Given the description of an element on the screen output the (x, y) to click on. 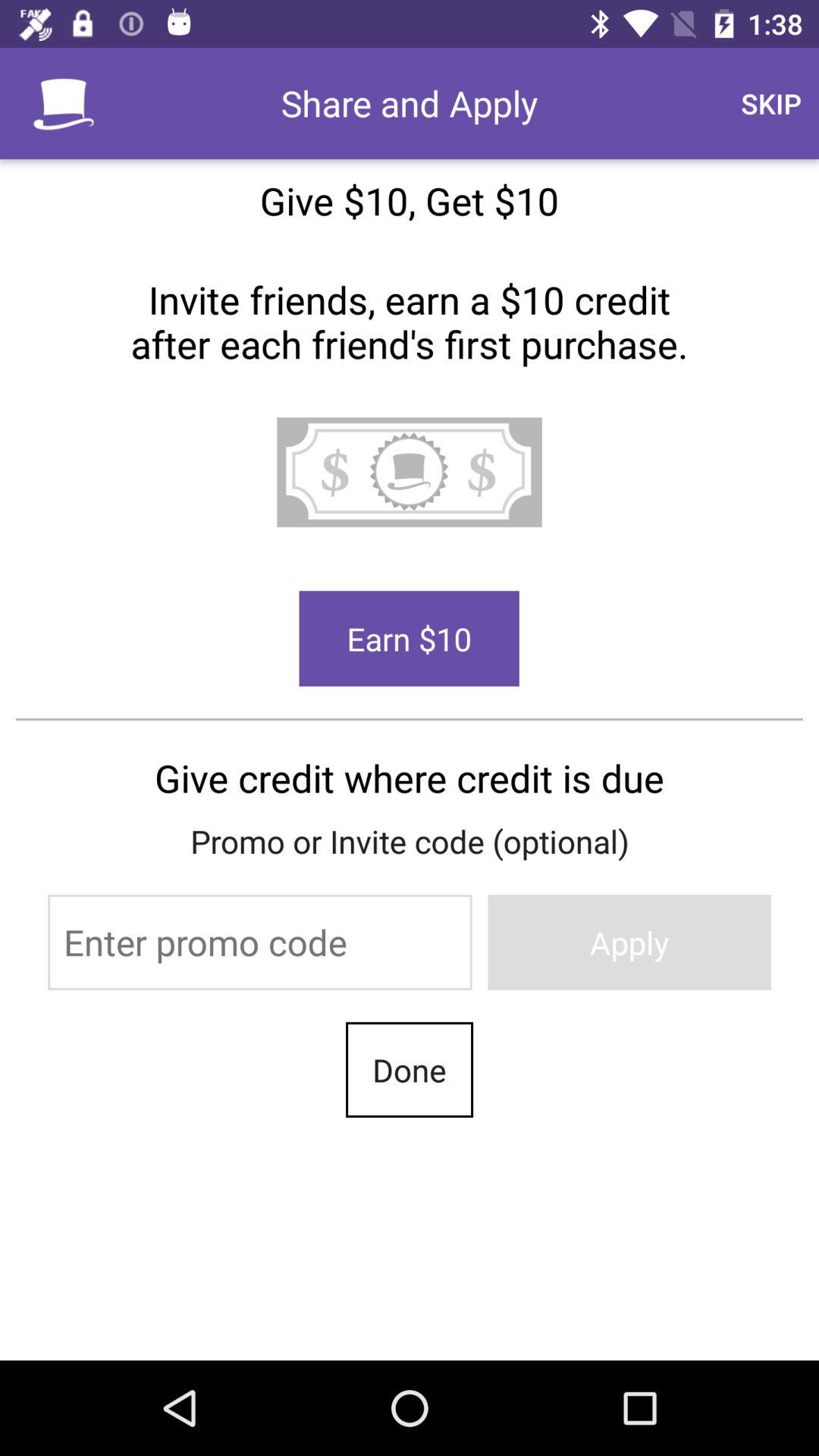
text box (259, 942)
